Given the description of an element on the screen output the (x, y) to click on. 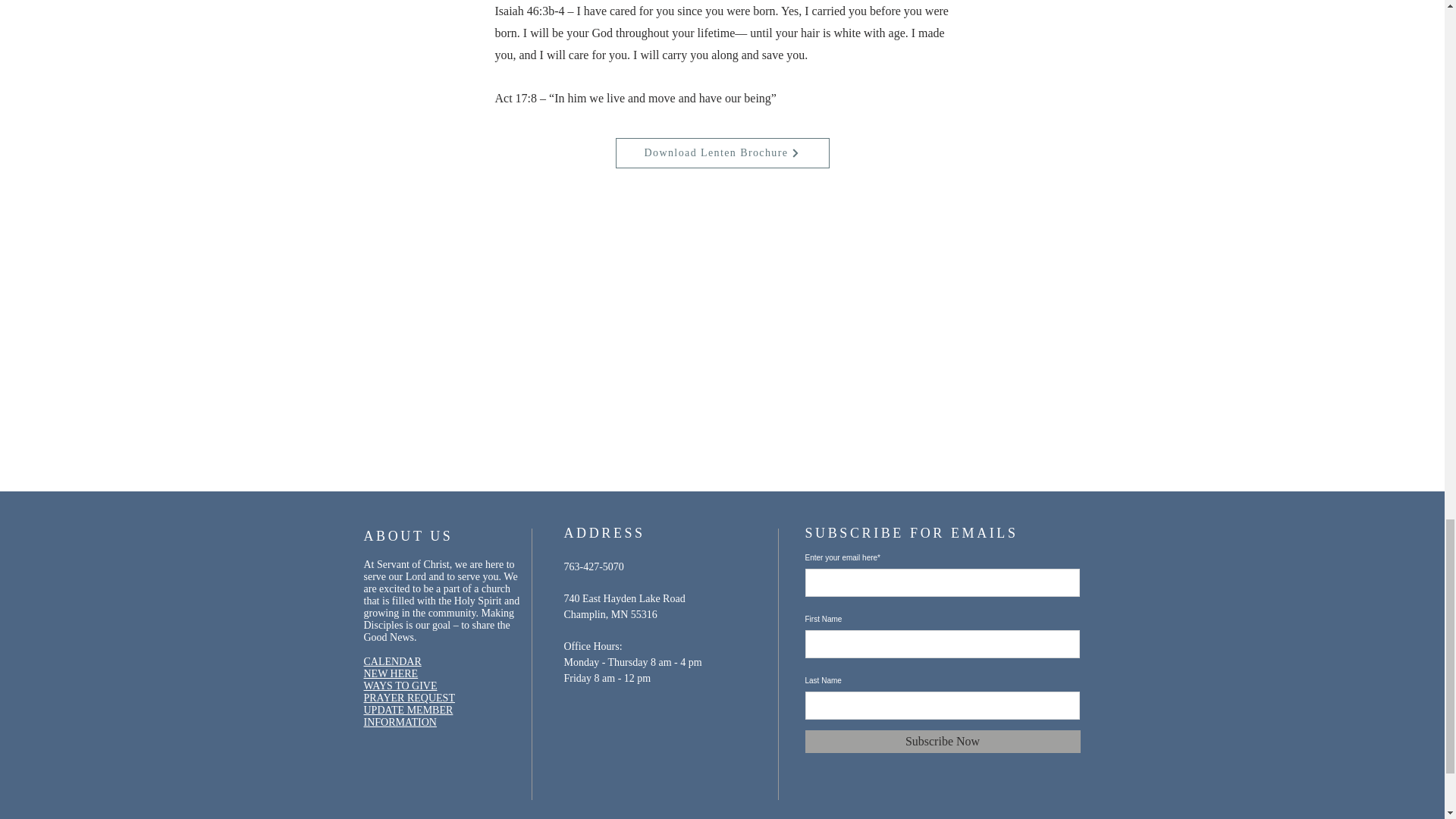
UPDATE MEMBER INFORMATION (408, 716)
WAYS TO GIVE (401, 685)
Subscribe Now (942, 741)
PRAYER REQUEST (409, 697)
CALENDAR (393, 661)
Download Lenten Brochure (722, 153)
NEW HERE (391, 673)
